Given the description of an element on the screen output the (x, y) to click on. 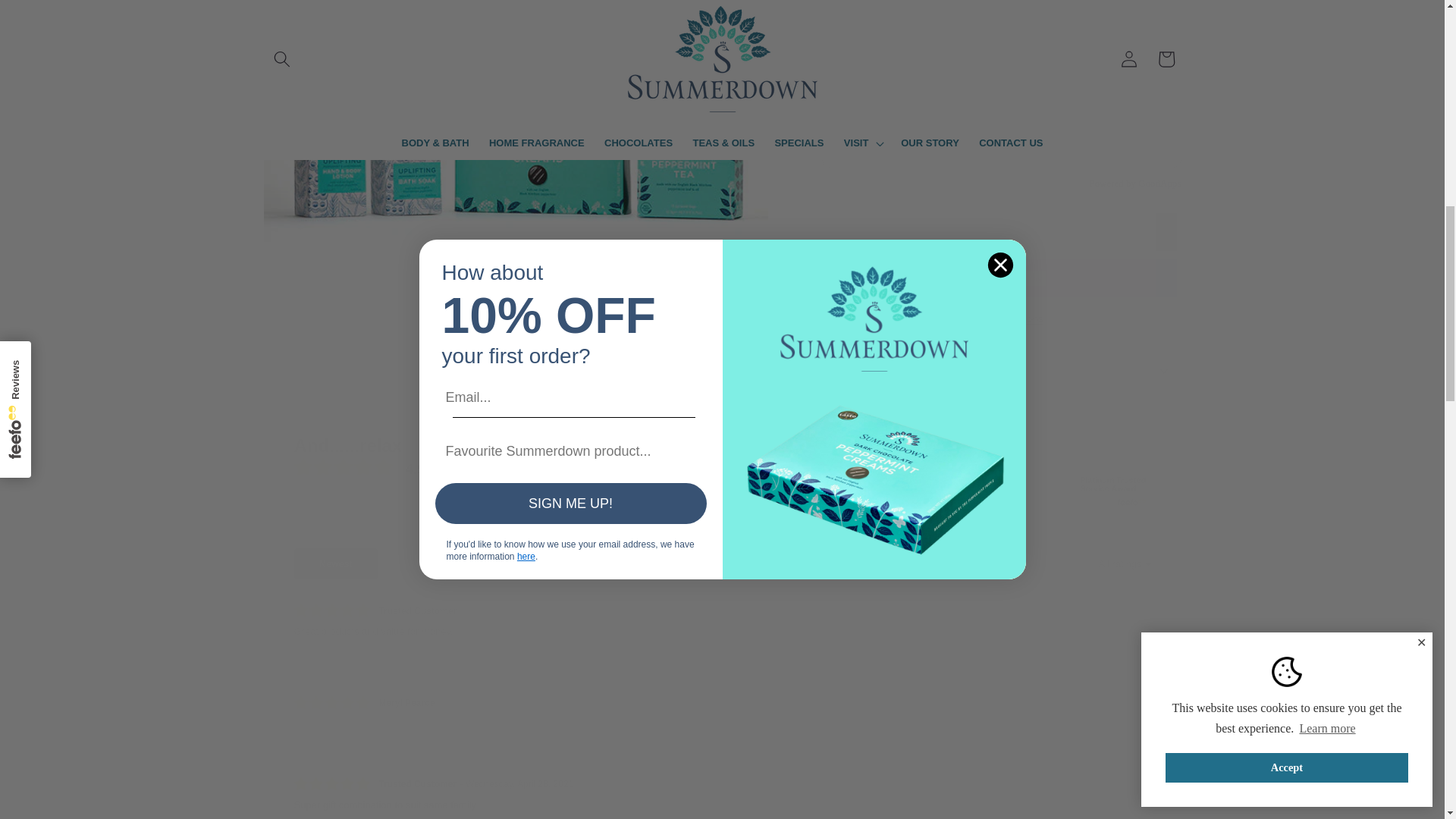
And......relax (412, 445)
